Given the description of an element on the screen output the (x, y) to click on. 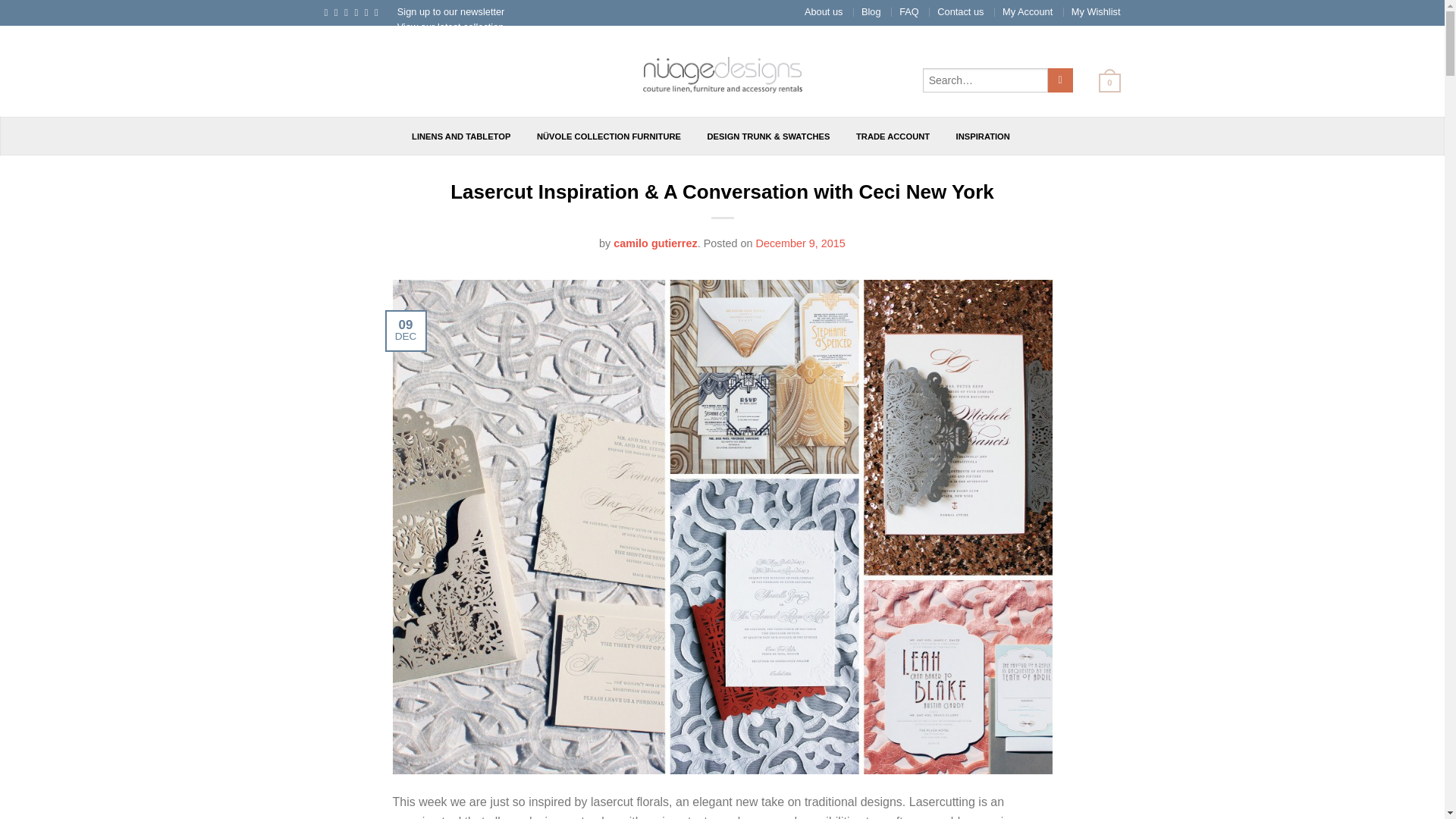
LINENS AND TABLETOP (461, 135)
0 (1103, 81)
FAQ (908, 11)
12:28 pm (799, 243)
Sign up to our newsletter (451, 11)
My Wishlist (1096, 11)
View our latest collection (450, 26)
View all posts by camilo gutierrez (654, 243)
Blog (870, 11)
About us (824, 11)
